Given the description of an element on the screen output the (x, y) to click on. 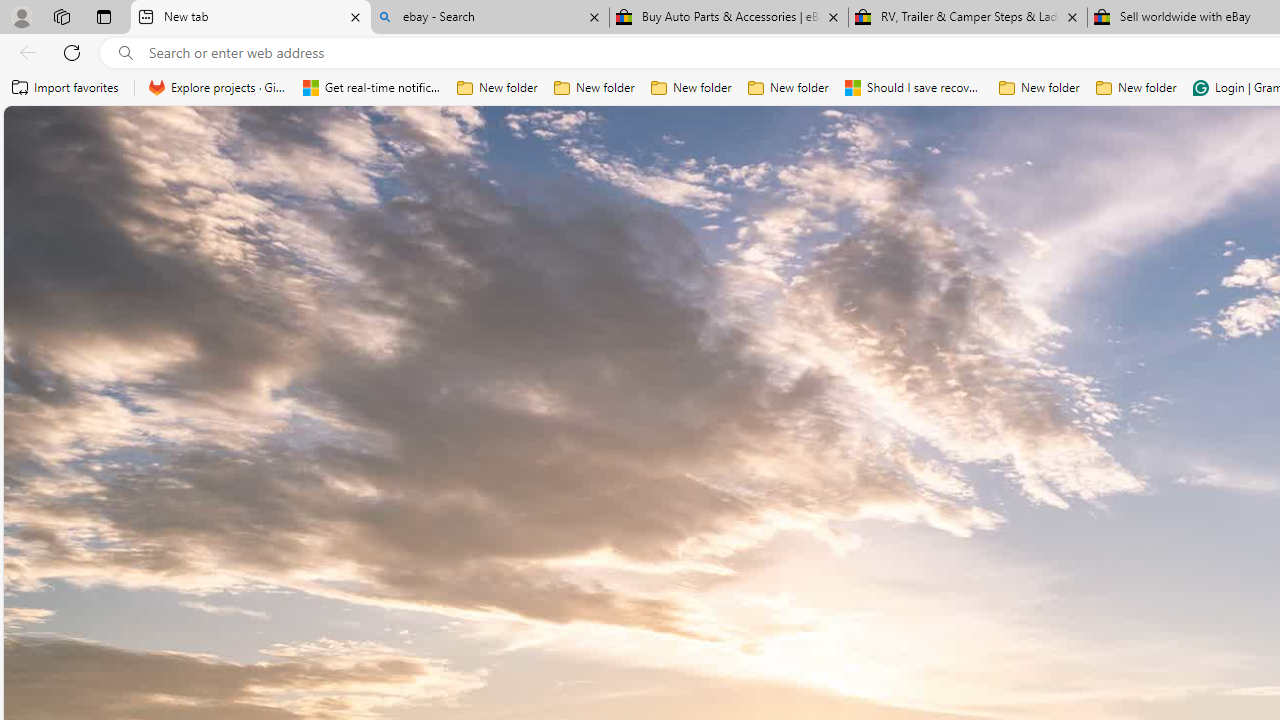
Search icon (125, 53)
AutomationID: tab-28 (859, 576)
The History of the Windows Start Menu (804, 539)
AutomationID: tab-16 (757, 576)
Top stories (572, 631)
AutomationID: tab-24 (821, 576)
AutomationID: tab-23 (814, 576)
AutomationID: tab-18 (774, 576)
